Given the description of an element on the screen output the (x, y) to click on. 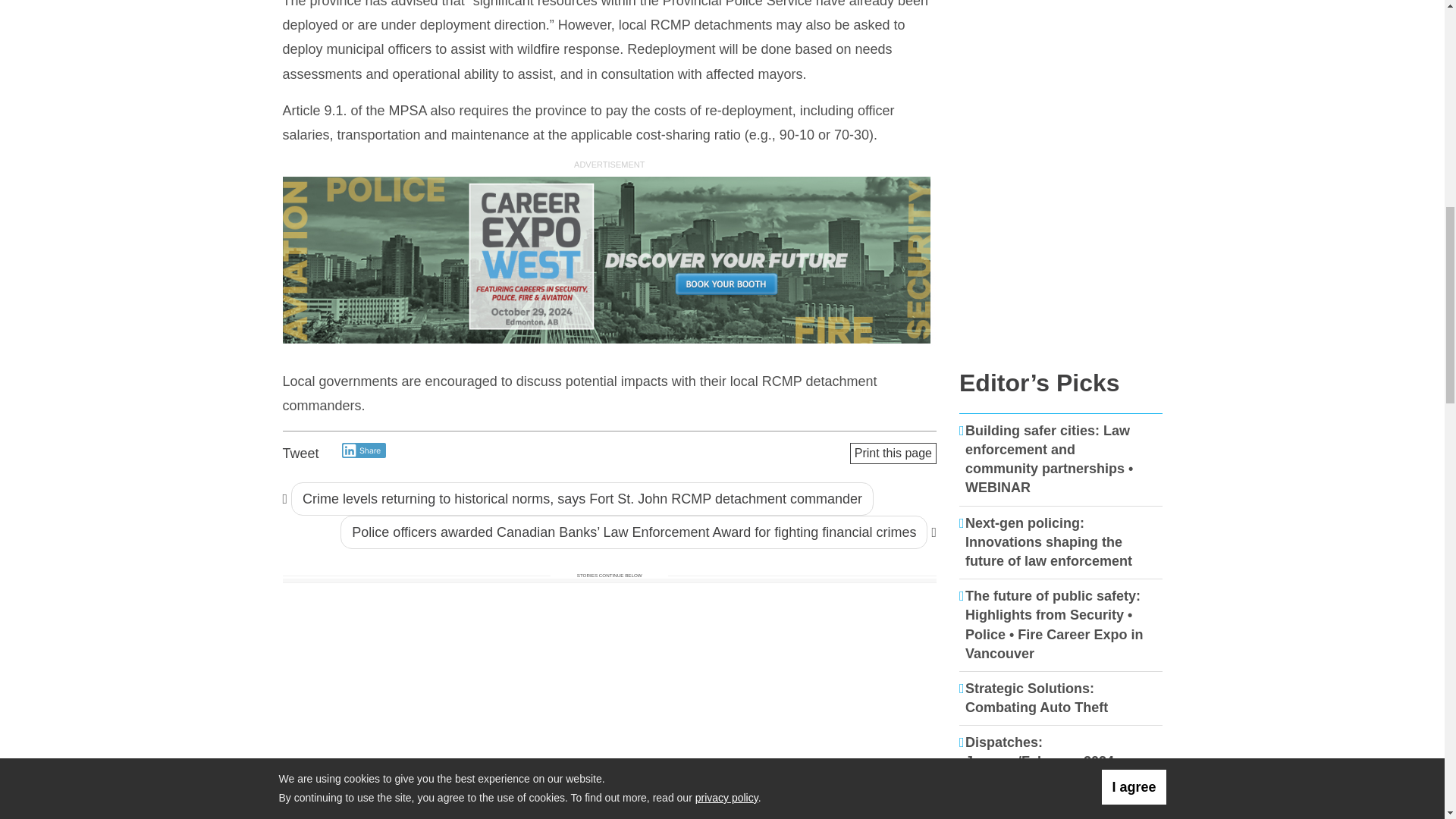
3rd party ad content (1060, 78)
3rd party ad content (1060, 258)
3rd party ad content (609, 261)
